Given the description of an element on the screen output the (x, y) to click on. 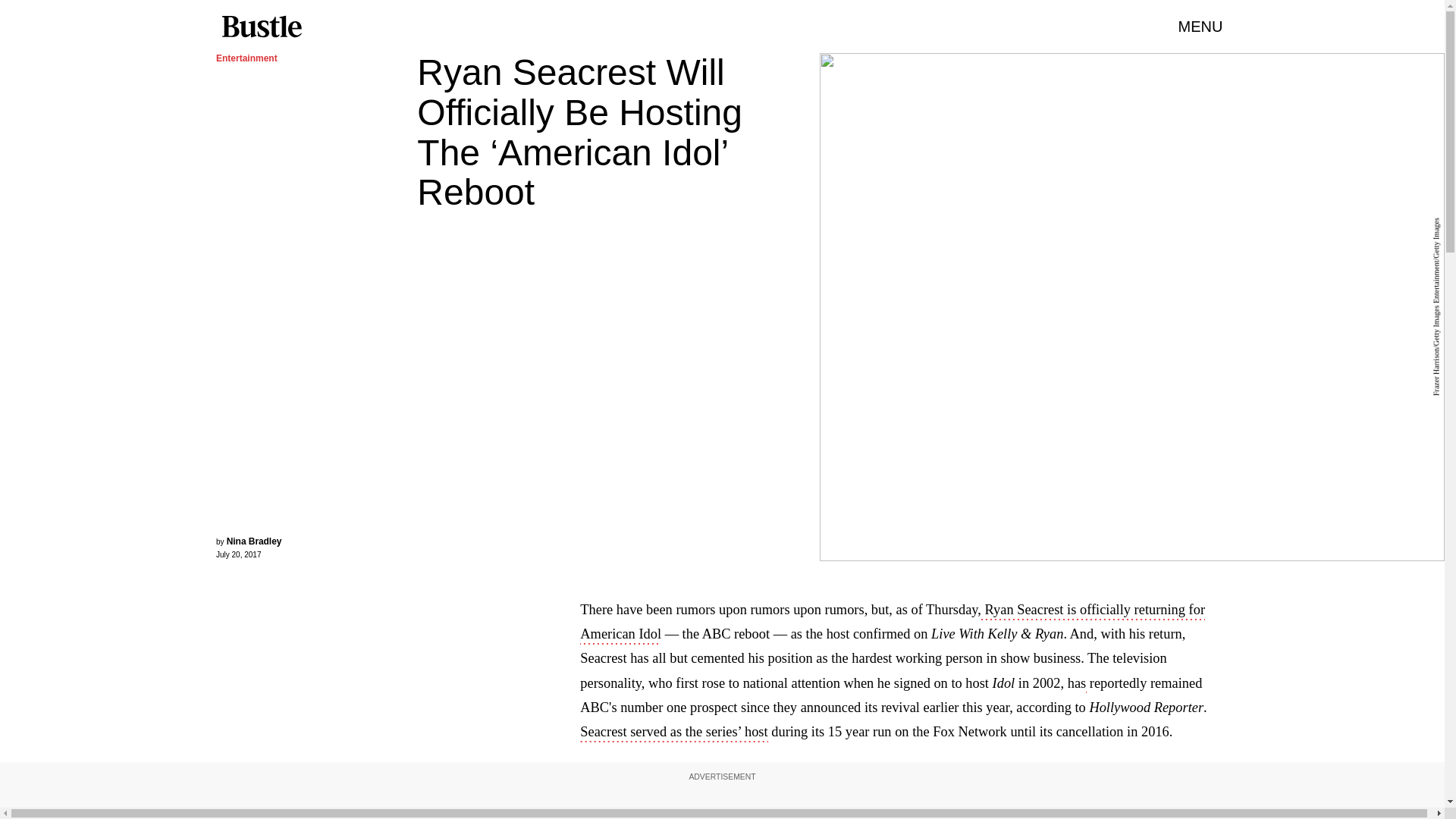
Nina Bradley (254, 541)
Ryan Seacrest is officially returning for American Idol (892, 622)
Bustle (261, 26)
